Given the description of an element on the screen output the (x, y) to click on. 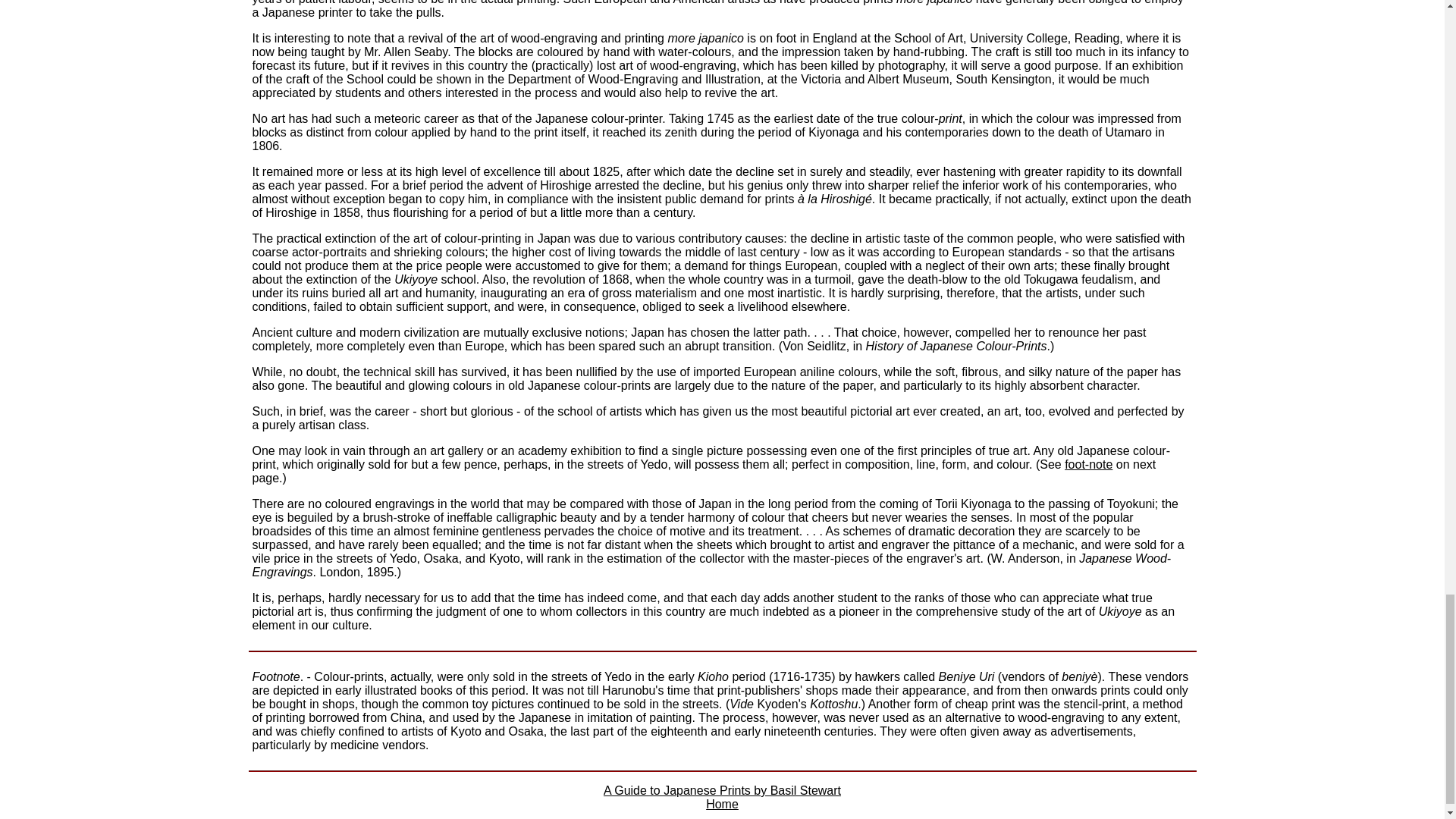
Home (722, 803)
foot-note (1088, 463)
A Guide to Japanese Prints by Basil Stewart (722, 789)
